Given the description of an element on the screen output the (x, y) to click on. 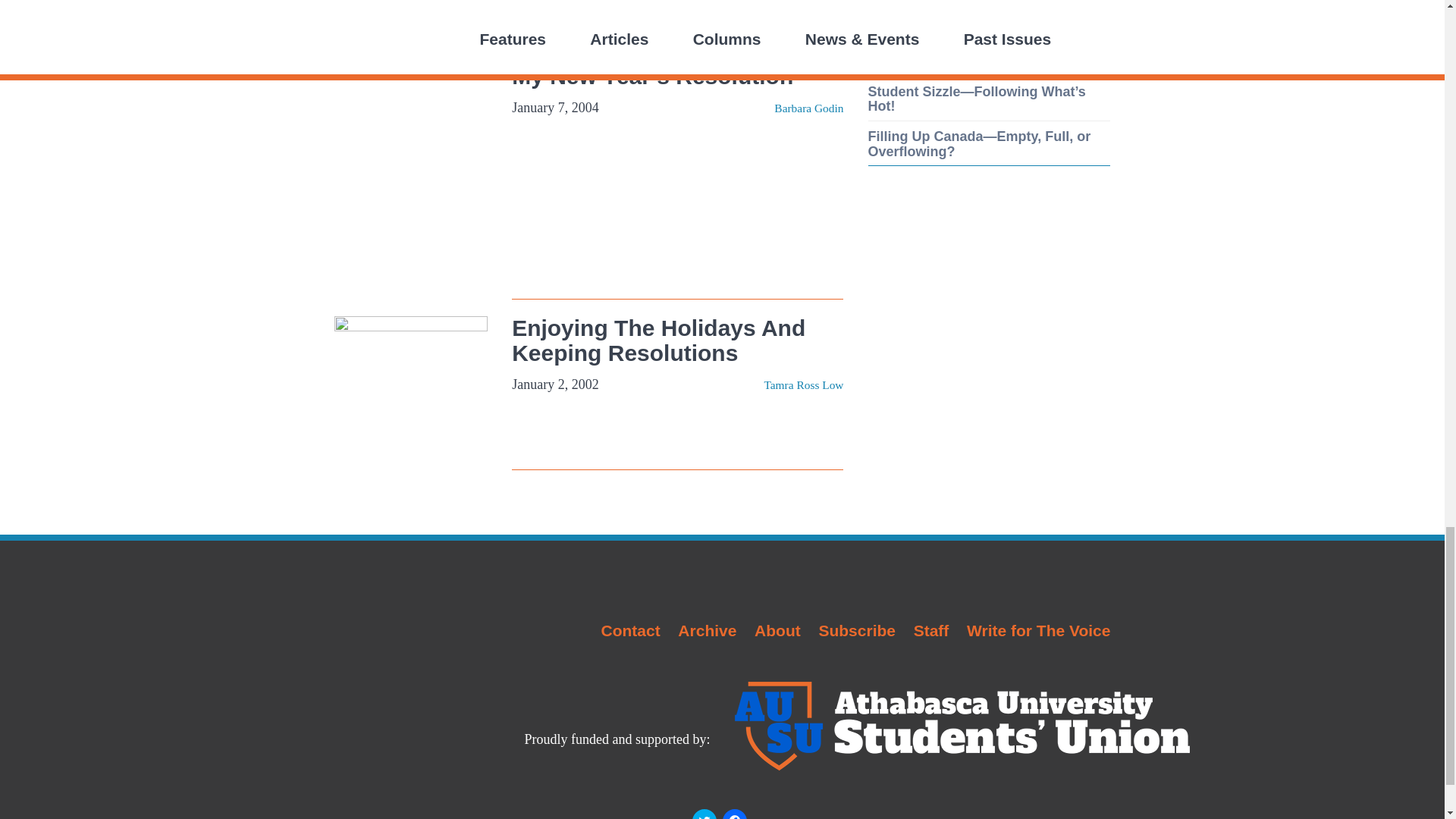
Tamra Ross Low (802, 384)
Posts by Barbara Godin (808, 107)
Barbara Godin (808, 107)
Enjoying The Holidays And Keeping Resolutions (658, 340)
Posts by Tamra Ross Low (802, 384)
